Given the description of an element on the screen output the (x, y) to click on. 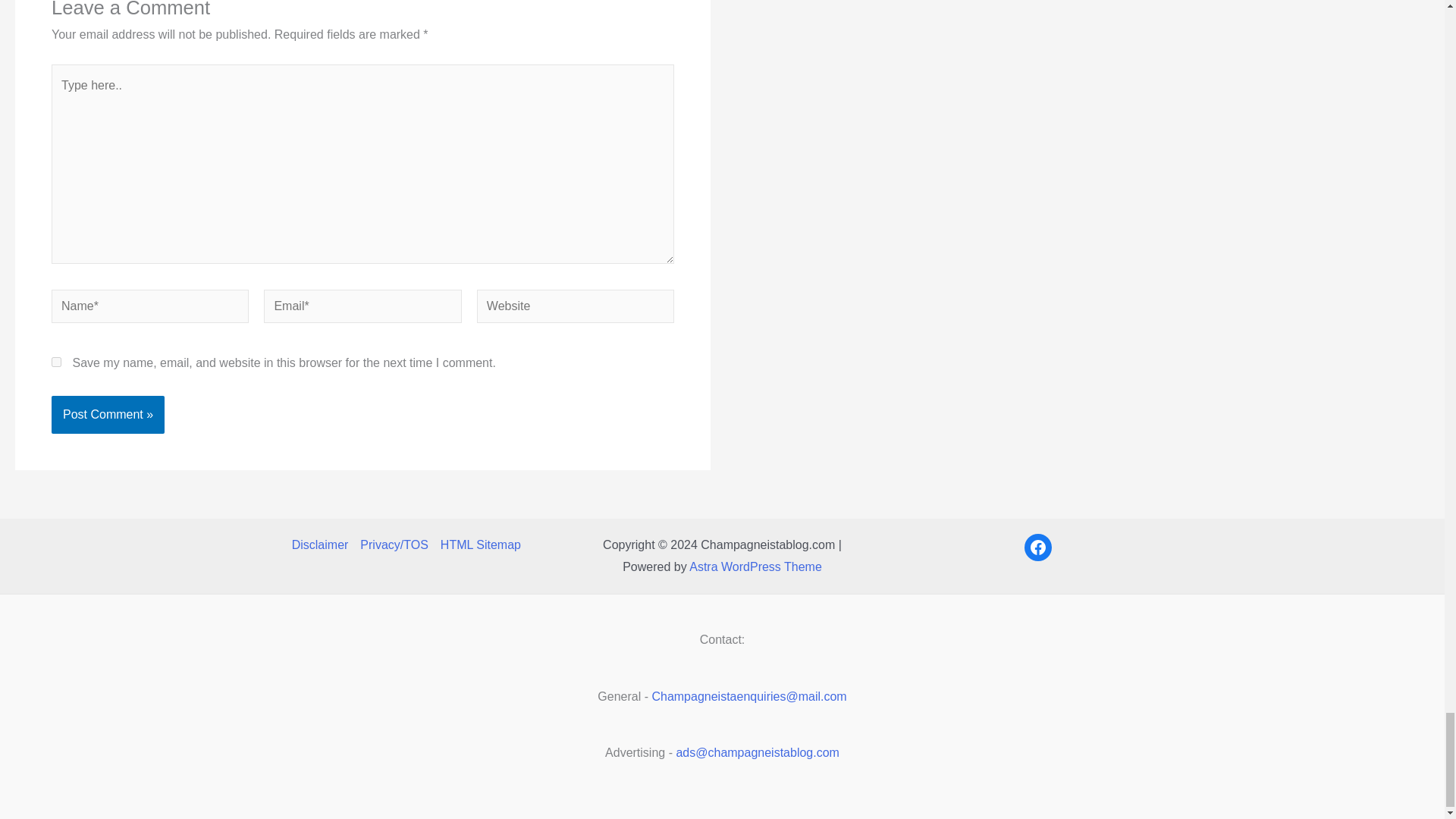
Disclaimer (323, 544)
yes (55, 361)
HTML Sitemap (477, 544)
